Given the description of an element on the screen output the (x, y) to click on. 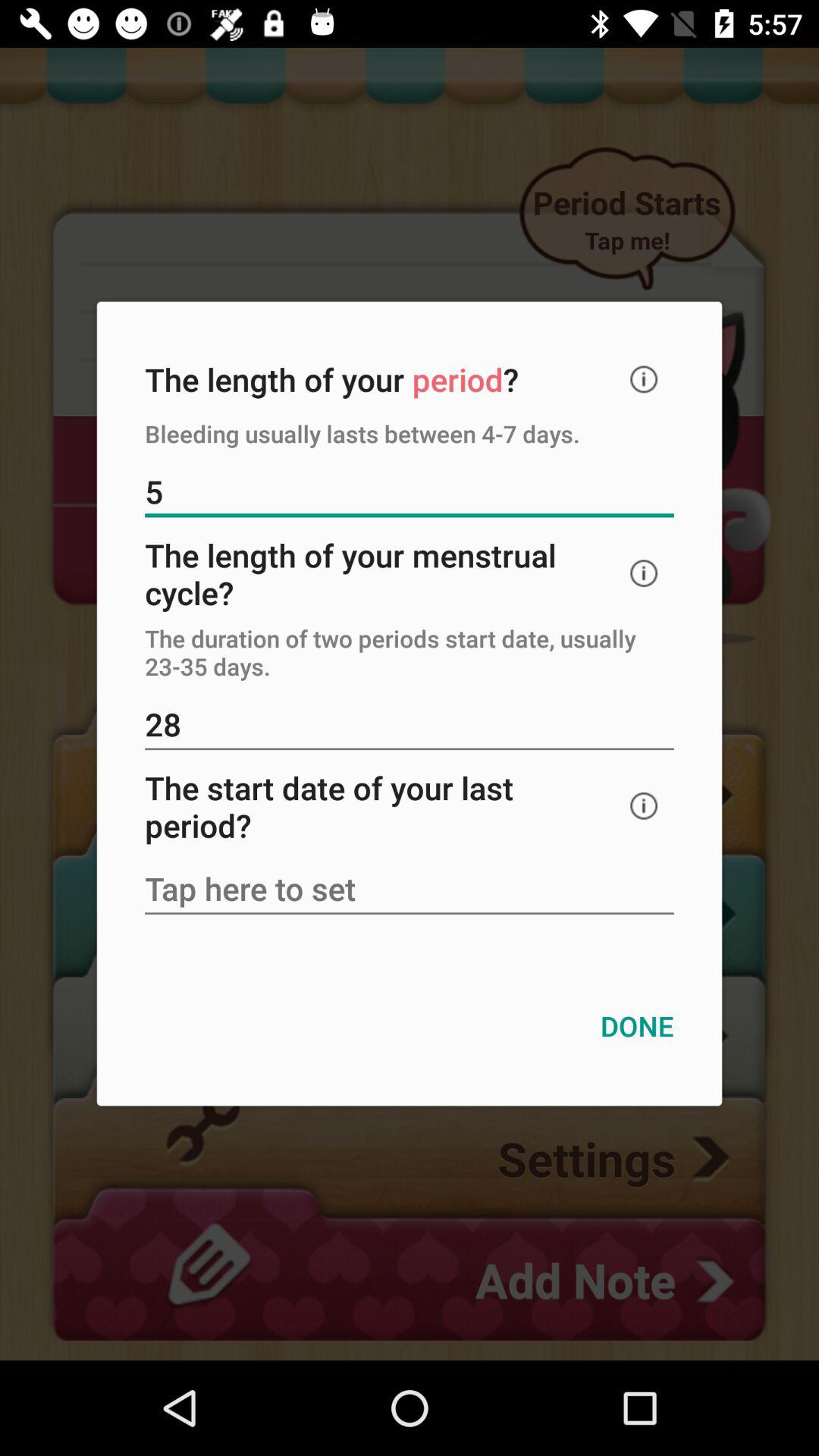
select the icon below the 5 (643, 573)
